Given the description of an element on the screen output the (x, y) to click on. 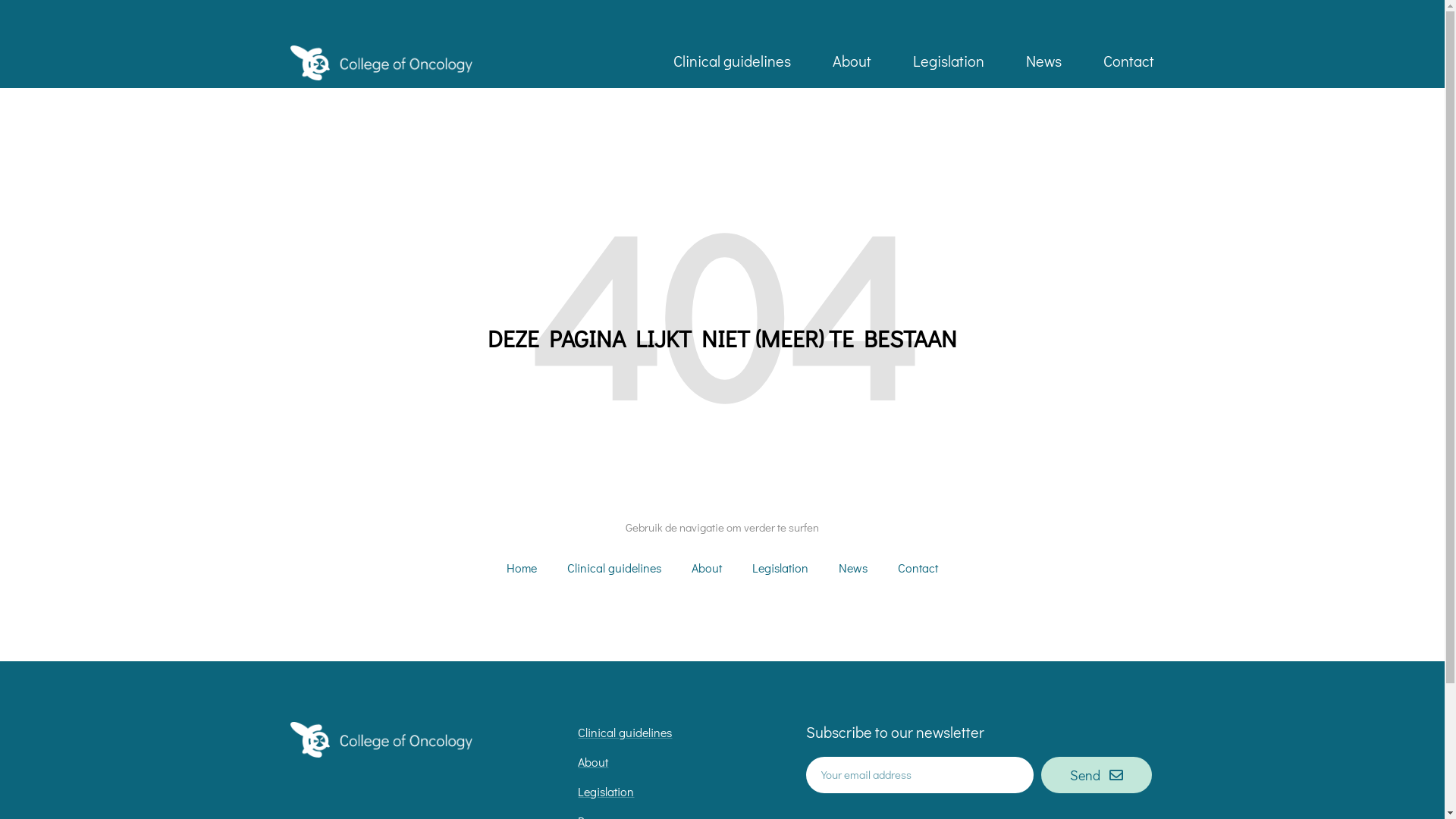
About Element type: text (851, 60)
Legislation Element type: text (672, 792)
Contact Element type: text (917, 567)
Legislation Element type: text (948, 60)
Clinical guidelines Element type: text (672, 732)
News Element type: text (852, 567)
Legislation Element type: text (780, 567)
About Element type: text (706, 567)
About Element type: text (672, 762)
Clinical guidelines Element type: text (614, 567)
Contact Element type: text (1128, 60)
Home Element type: text (521, 567)
Send Element type: text (1096, 774)
Clinical guidelines Element type: text (731, 60)
News Element type: text (1043, 60)
